Given the description of an element on the screen output the (x, y) to click on. 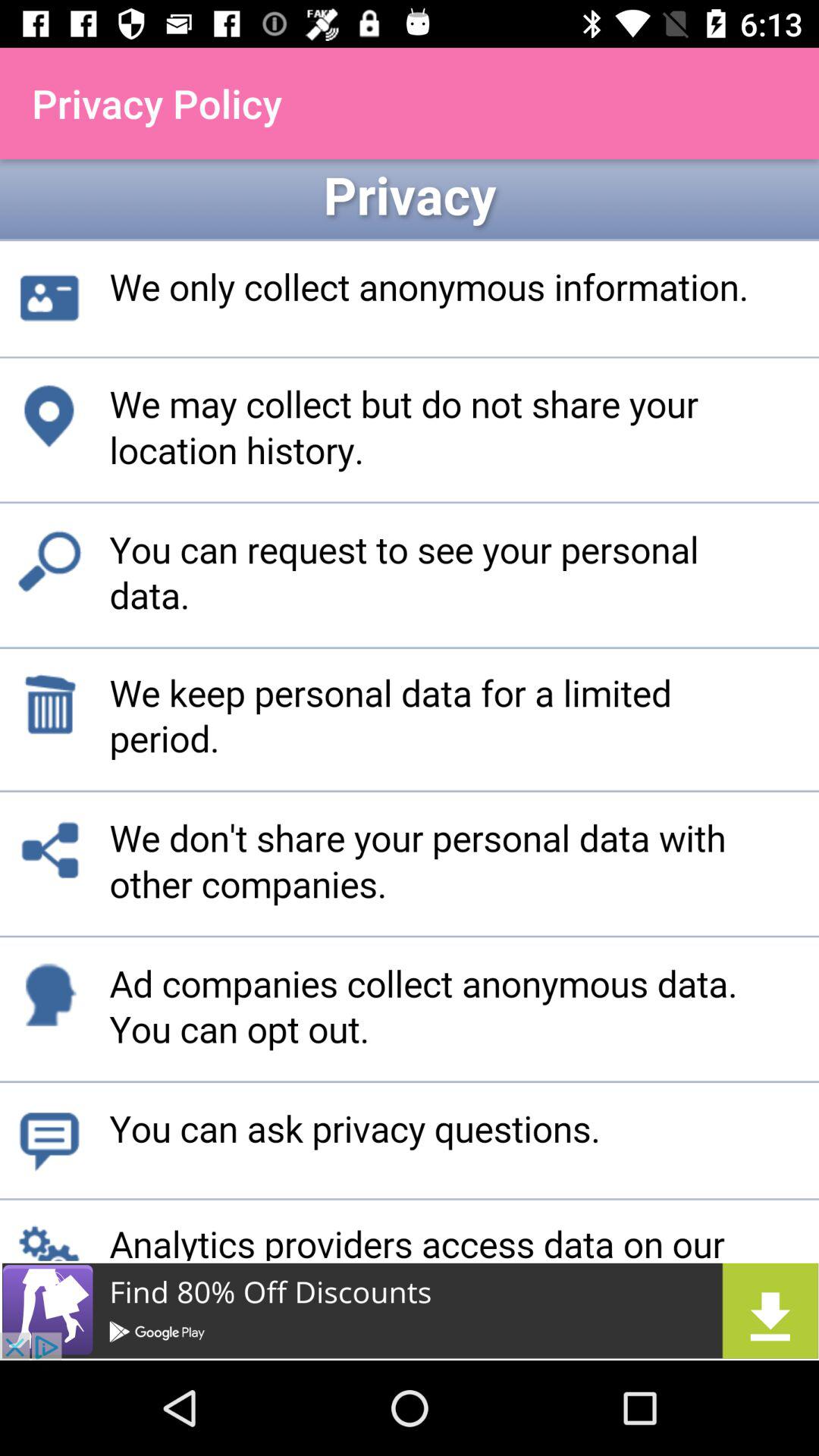
goes to advertiser 's website (409, 1310)
